Given the description of an element on the screen output the (x, y) to click on. 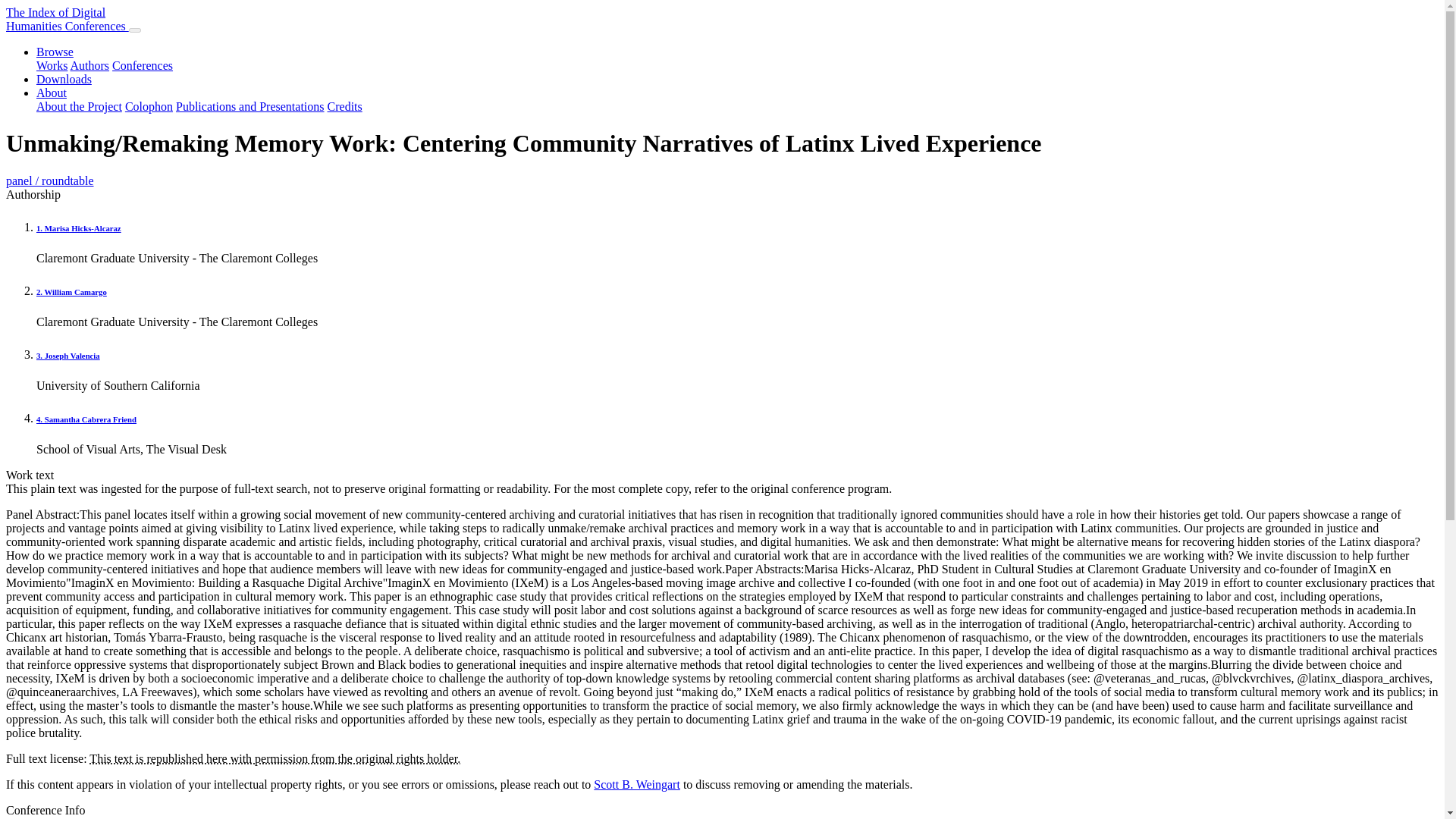
3. Joseph Valencia (68, 355)
Authors (89, 65)
2. William Camargo (71, 291)
Scott B. Weingart (636, 784)
Browse (67, 18)
Credits (55, 51)
About (344, 106)
About the Project (51, 92)
1. Marisa Hicks-Alcaraz (79, 106)
Downloads (78, 227)
Conferences (63, 78)
Works (142, 65)
4. Samantha Cabrera Friend (51, 65)
